Given the description of an element on the screen output the (x, y) to click on. 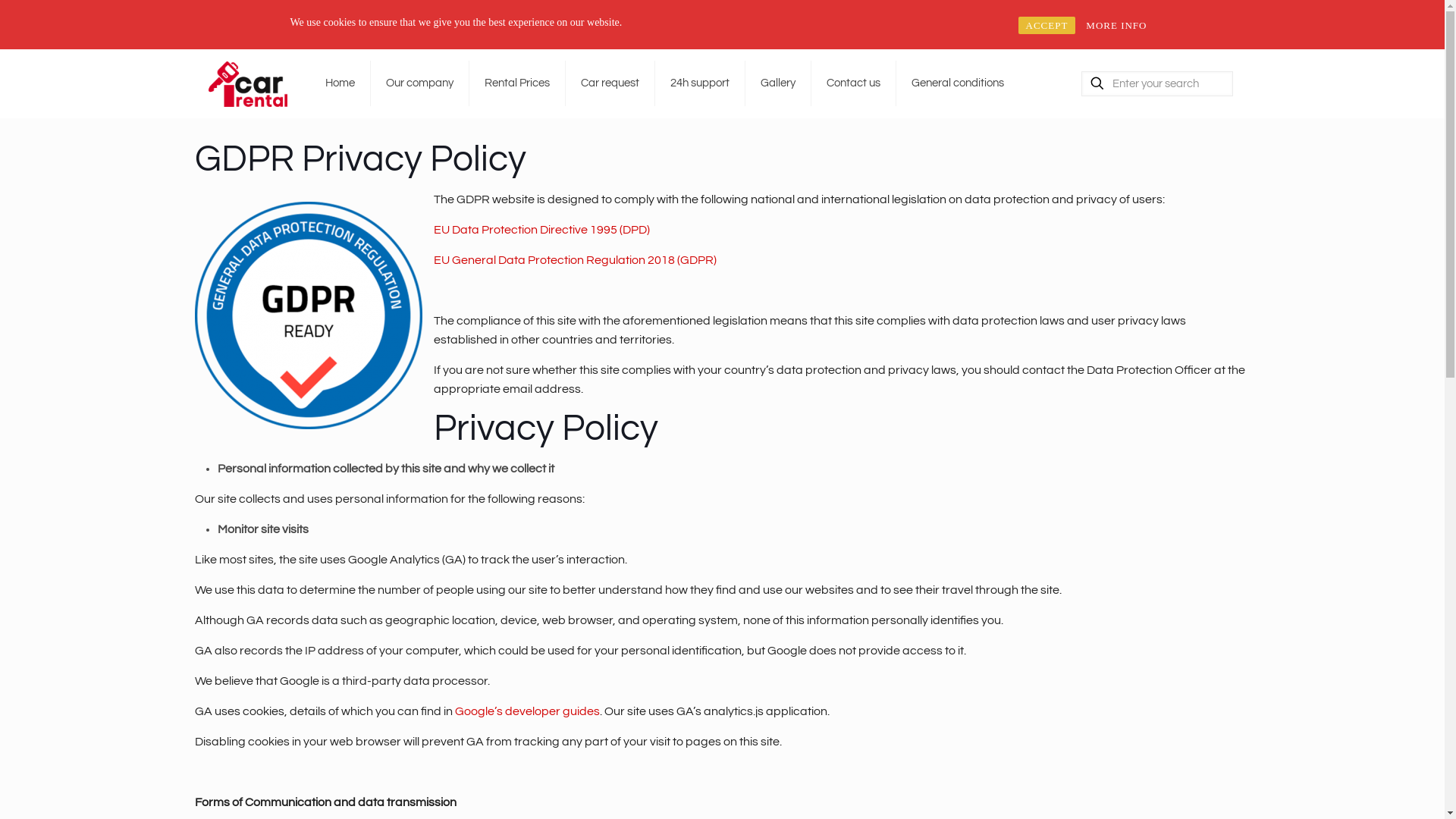
Car request Element type: text (610, 83)
MORE INFO Element type: text (1116, 25)
General conditions Element type: text (957, 83)
Rental Prices Element type: text (517, 83)
Our company Element type: text (419, 83)
Contact us Element type: text (853, 83)
EU Data Protection Directive 1995 (DPD) Element type: text (541, 229)
ACCEPT Element type: text (1046, 25)
24h support Element type: text (700, 83)
EU General Data Protection Regulation 2018 (GDPR) Element type: text (574, 260)
Gallery Element type: text (778, 83)
Home Element type: text (340, 83)
